Given the description of an element on the screen output the (x, y) to click on. 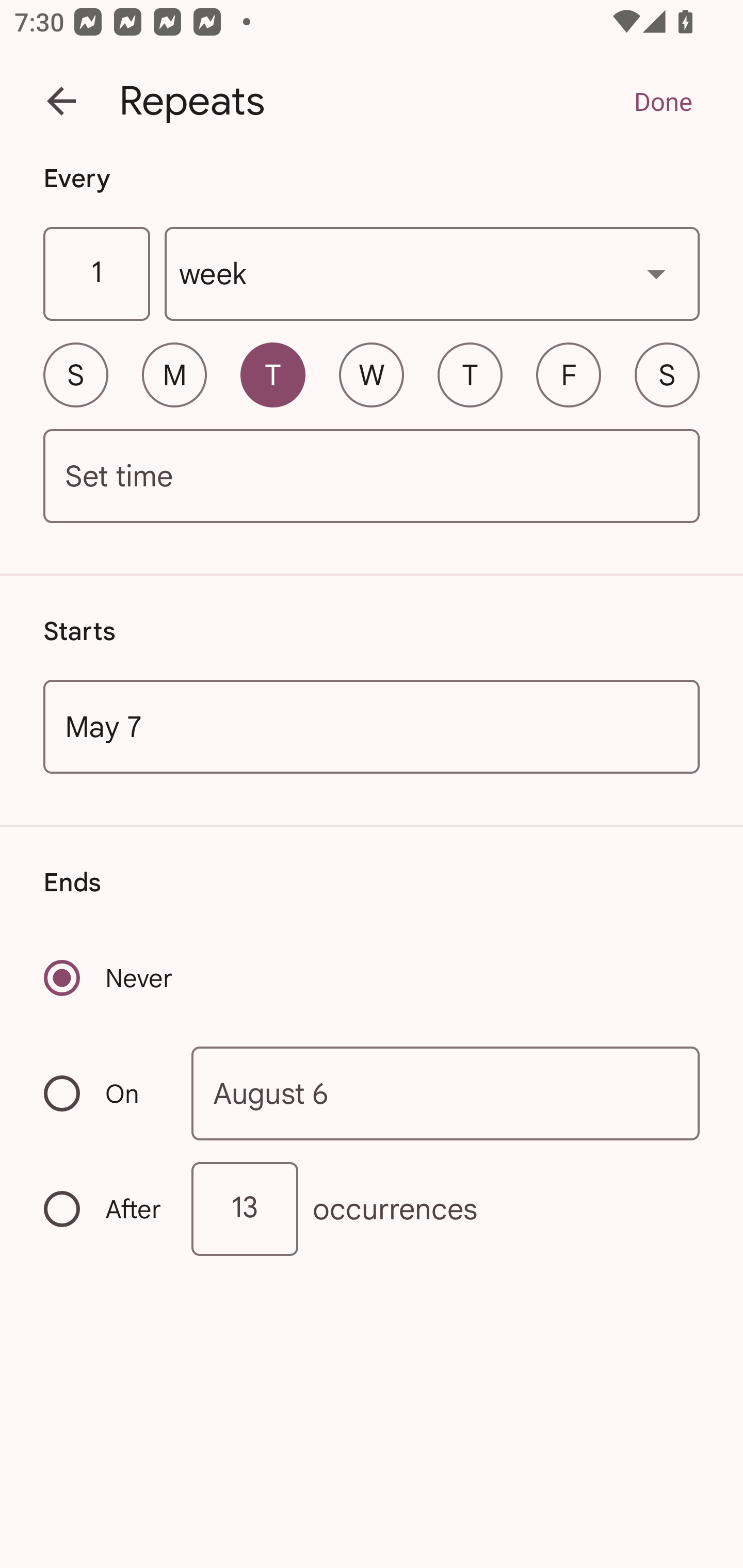
Back (61, 101)
Done (663, 101)
1 (96, 274)
week (431, 274)
Show dropdown menu (655, 273)
S Sunday (75, 374)
M Monday (173, 374)
T Tuesday, selected (272, 374)
W Wednesday (371, 374)
T Thursday (469, 374)
F Friday (568, 374)
S Saturday (666, 374)
Set time (371, 476)
May 7 (371, 726)
Never Recurrence never ends (109, 978)
August 6 (445, 1092)
On Recurrence ends on a specific date (104, 1093)
13 (244, 1208)
